Given the description of an element on the screen output the (x, y) to click on. 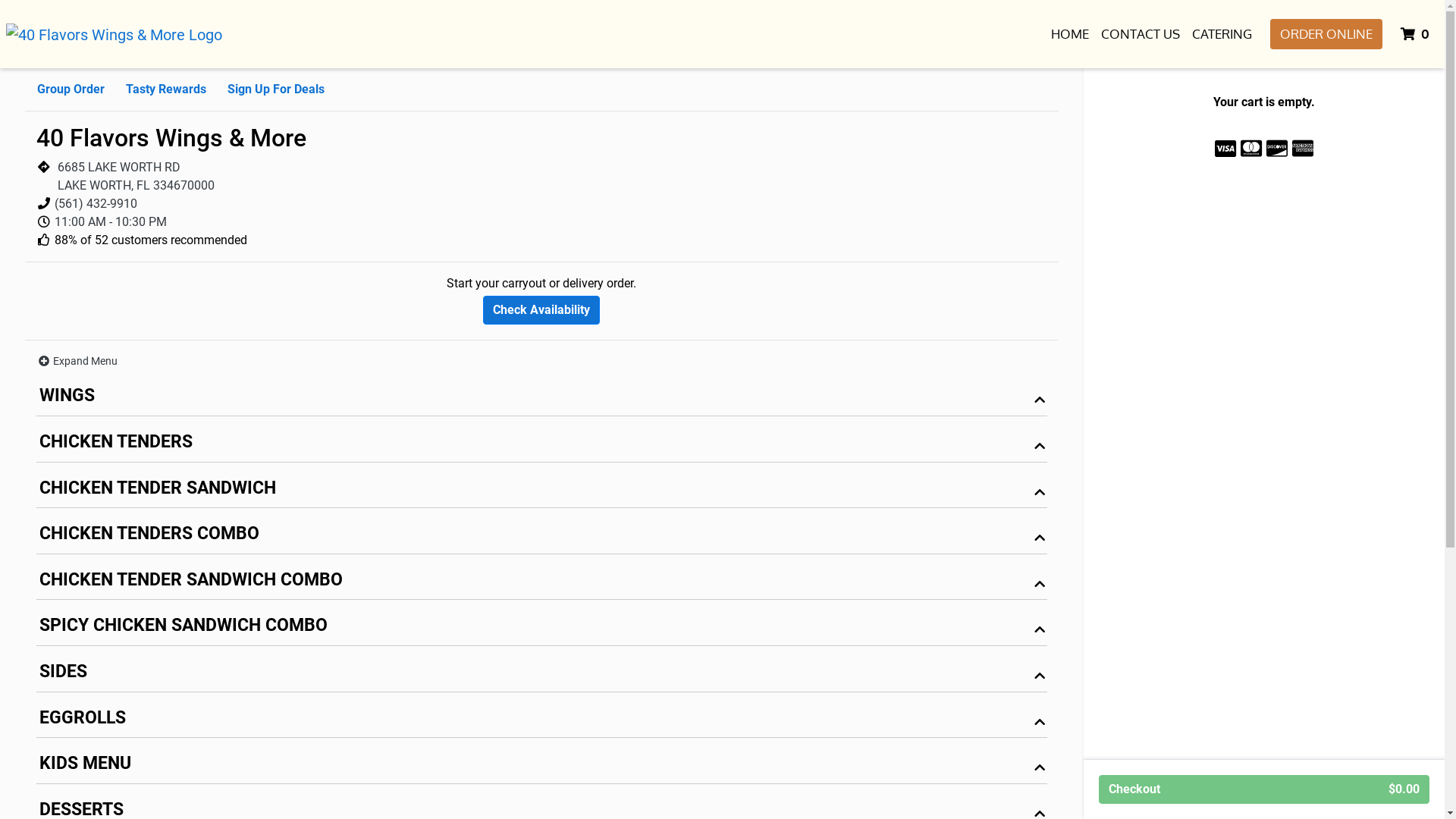
Tasty Rewards Element type: text (165, 89)
Group Order Element type: text (70, 89)
(561) 432-9910 Element type: text (95, 203)
Sign Up For Deals Element type: text (275, 89)
Expand Menu Element type: text (77, 361)
CHICKEN TENDERS COMBO Element type: text (541, 537)
Accepts Discover Element type: hover (1276, 147)
HOME Element type: text (1069, 34)
SIDES Element type: text (541, 675)
6685 LAKE WORTH RD
LAKE WORTH, FL 334670000 Element type: text (135, 176)
Check Availability Element type: text (541, 309)
SPICY CHICKEN SANDWICH COMBO Element type: text (541, 628)
CHICKEN TENDERS Element type: text (541, 445)
ORDER ONLINE Element type: text (1326, 33)
CONTACT US Element type: text (1140, 34)
CATERING Element type: text (1222, 34)
Accepts Visa Element type: hover (1225, 147)
EGGROLLS Element type: text (541, 721)
Accepts Mastercard Element type: hover (1250, 147)
Accepts American Express Element type: hover (1302, 147)
11:00 AM - 10:30 PM Element type: text (110, 221)
WINGS Element type: text (541, 399)
0
 ITEMS IN CART Element type: text (1416, 34)
CHICKEN TENDER SANDWICH COMBO Element type: text (541, 583)
Checkout
$0.00 Element type: text (1263, 789)
CHICKEN TENDER SANDWICH Element type: text (541, 491)
KIDS MENU Element type: text (541, 766)
